Given the description of an element on the screen output the (x, y) to click on. 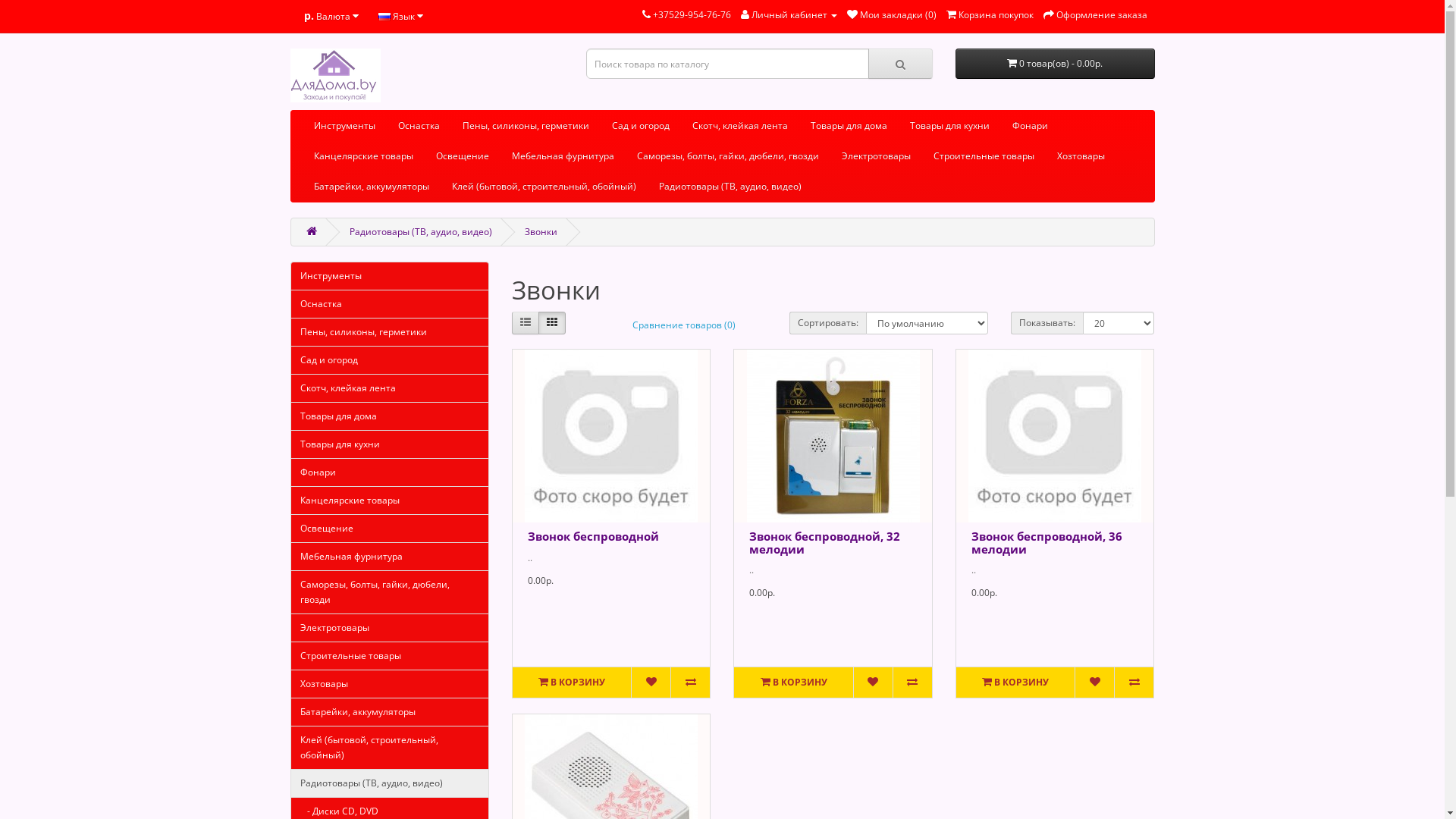
Russian Element type: hover (383, 16)
